Given the description of an element on the screen output the (x, y) to click on. 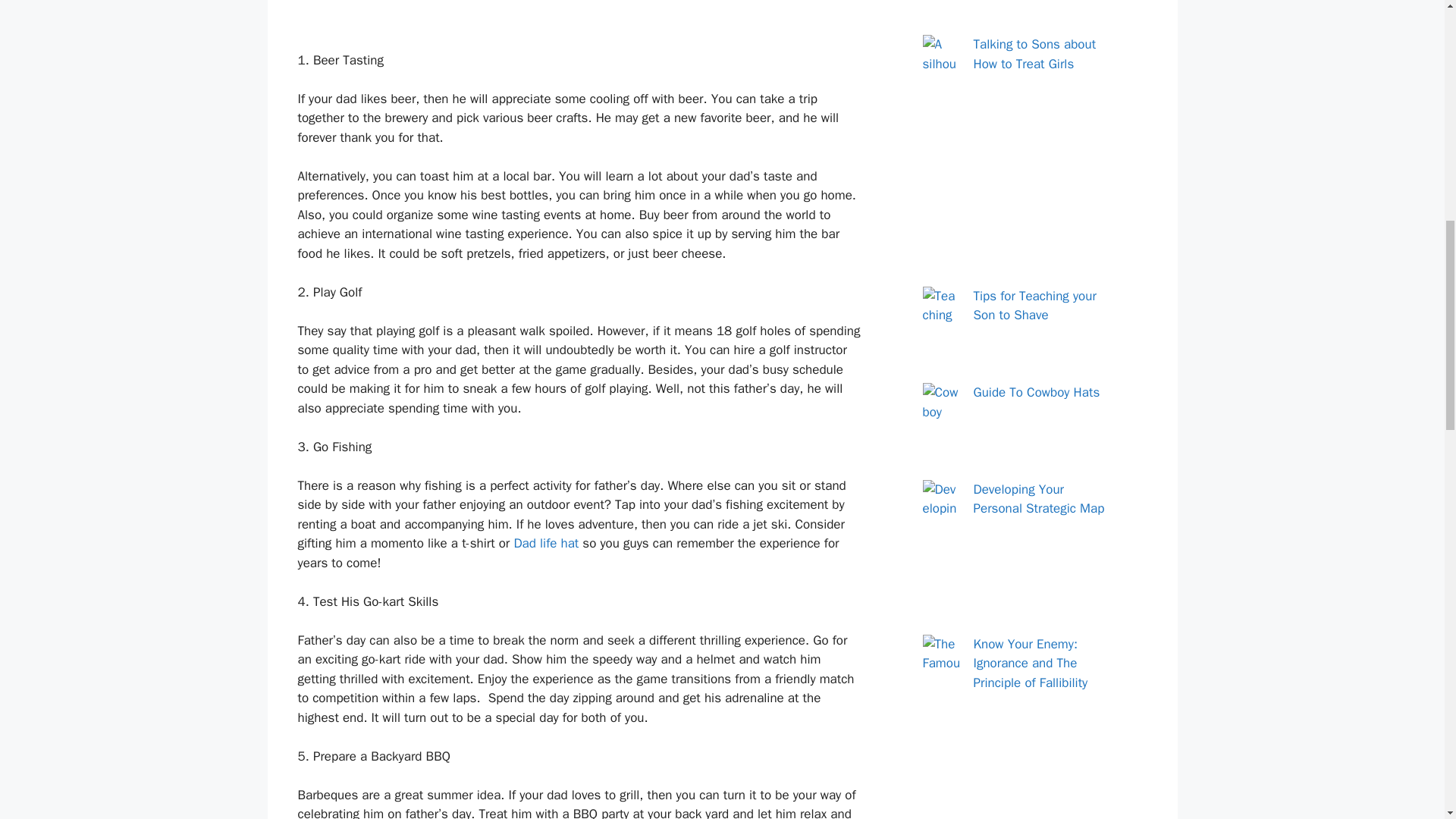
Talking to Sons about How to Treat Girls (1035, 54)
Dad life hat (545, 543)
